Given the description of an element on the screen output the (x, y) to click on. 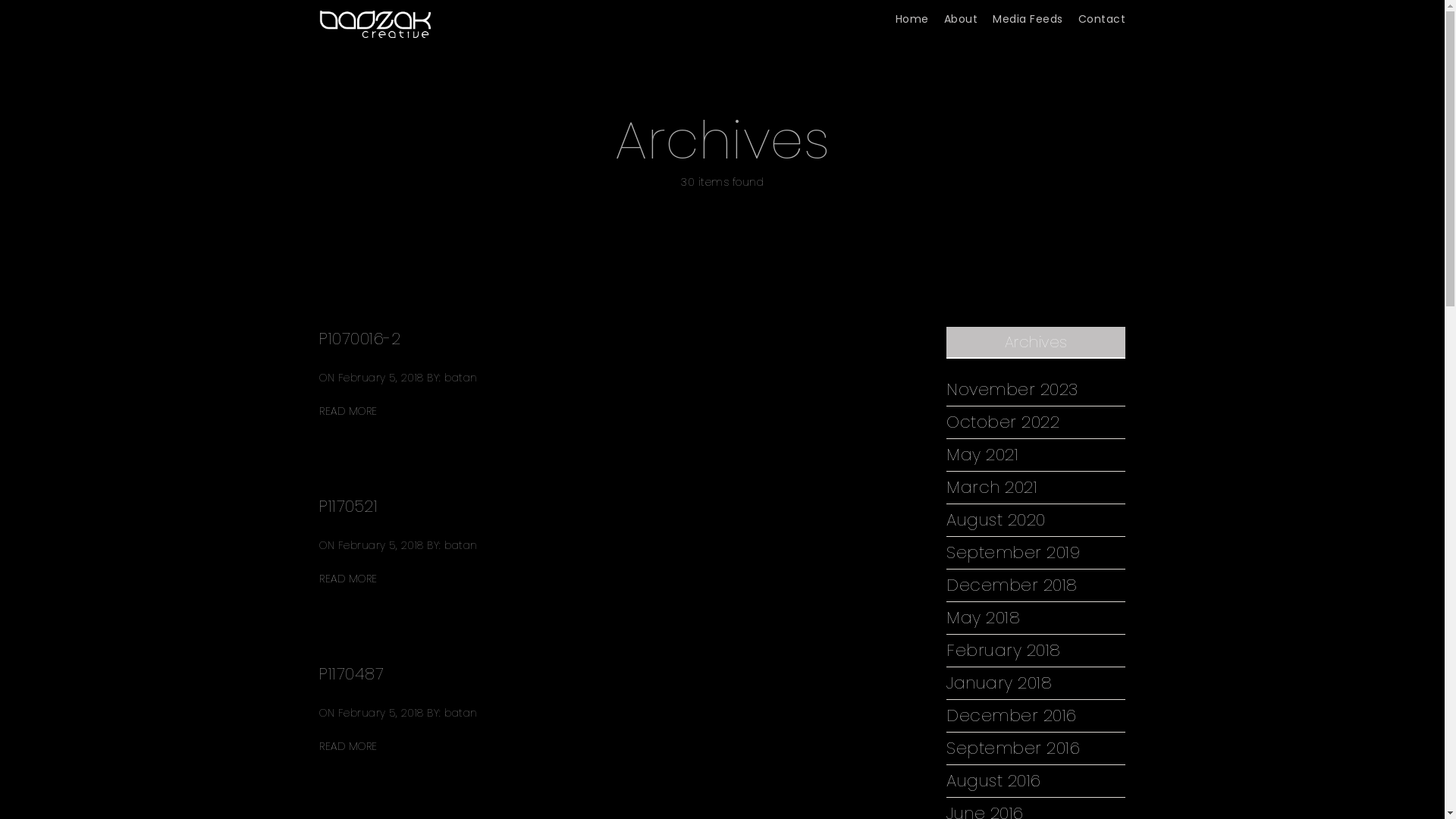
November 2023 Element type: text (1012, 389)
READ MORE Element type: text (348, 746)
P1170521 Element type: text (348, 506)
September 2019 Element type: text (1012, 552)
Contact Element type: text (1102, 19)
September 2016 Element type: text (1012, 748)
May 2021 Element type: text (982, 454)
May 2018 Element type: text (982, 617)
READ MORE Element type: text (348, 578)
Home Element type: text (911, 19)
READ MORE Element type: text (348, 410)
P1070016-2 Element type: text (359, 338)
P1170487 Element type: text (351, 673)
October 2022 Element type: text (1002, 421)
February 2018 Element type: text (1003, 650)
January 2018 Element type: text (998, 682)
August 2016 Element type: text (993, 780)
Badzak Creative Element type: hover (374, 18)
About Element type: text (960, 19)
March 2021 Element type: text (991, 487)
December 2016 Element type: text (1011, 715)
August 2020 Element type: text (995, 519)
Media Feeds Element type: text (1027, 19)
December 2018 Element type: text (1011, 585)
